Given the description of an element on the screen output the (x, y) to click on. 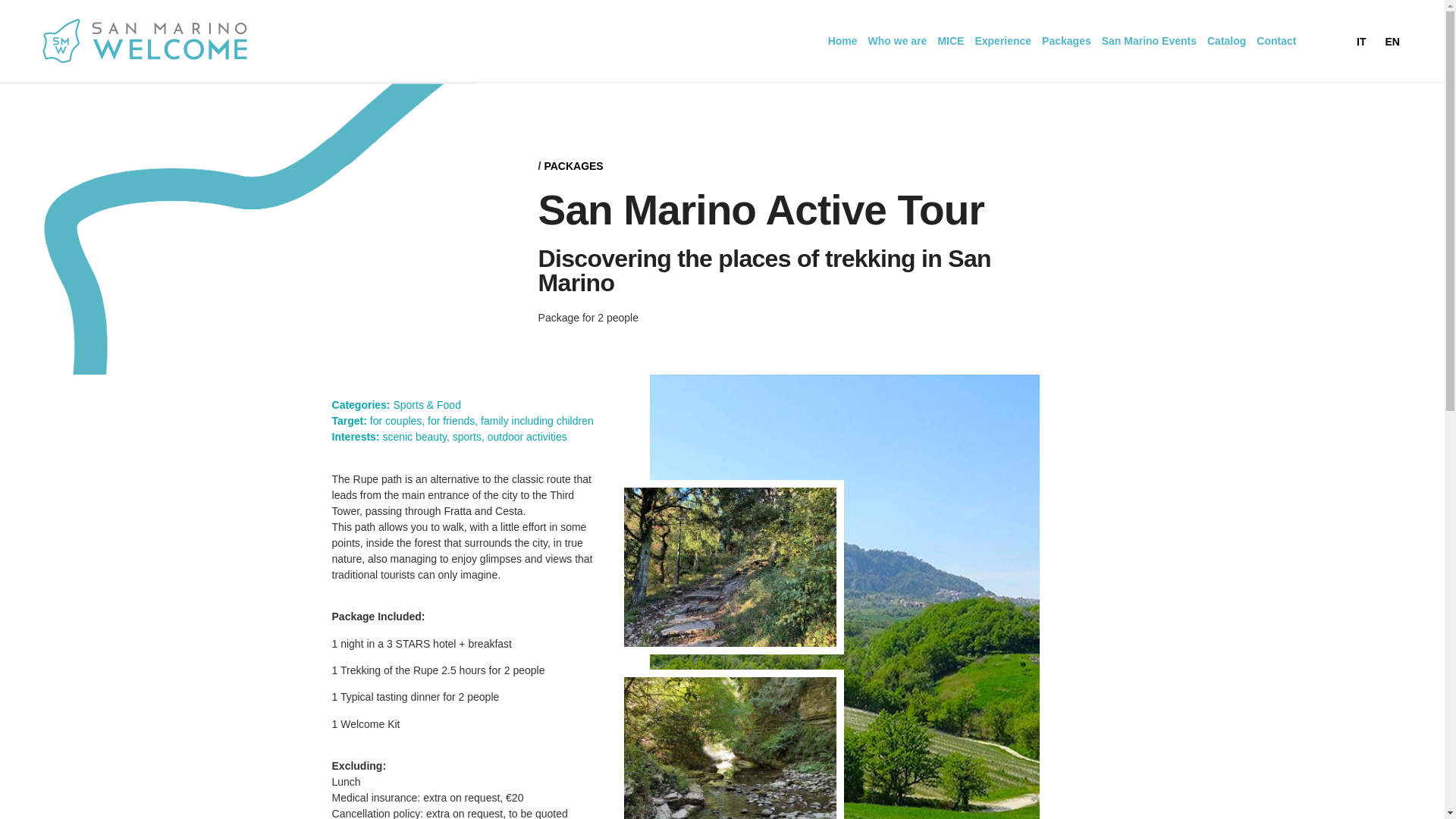
PACKAGES (572, 165)
San Marino Events (1149, 40)
EN (1388, 40)
MICE (950, 40)
Contact (1275, 40)
Packages (1066, 40)
Catalog (1226, 40)
Page 3 (801, 317)
Who we are (898, 40)
IT (1357, 40)
